Given the description of an element on the screen output the (x, y) to click on. 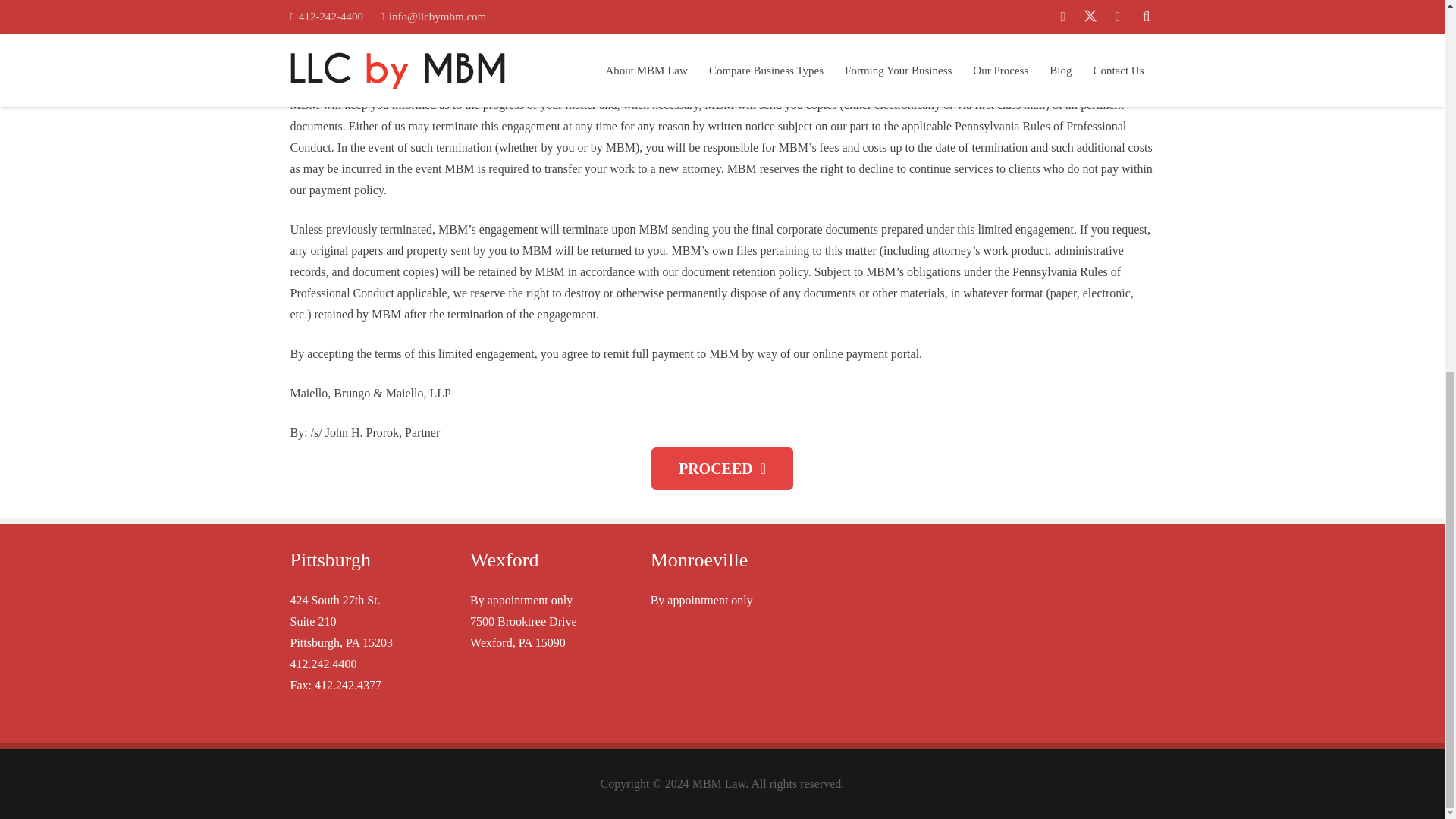
Check Out (721, 468)
PROCEED (721, 468)
412.242.4400 (322, 663)
